Given the description of an element on the screen output the (x, y) to click on. 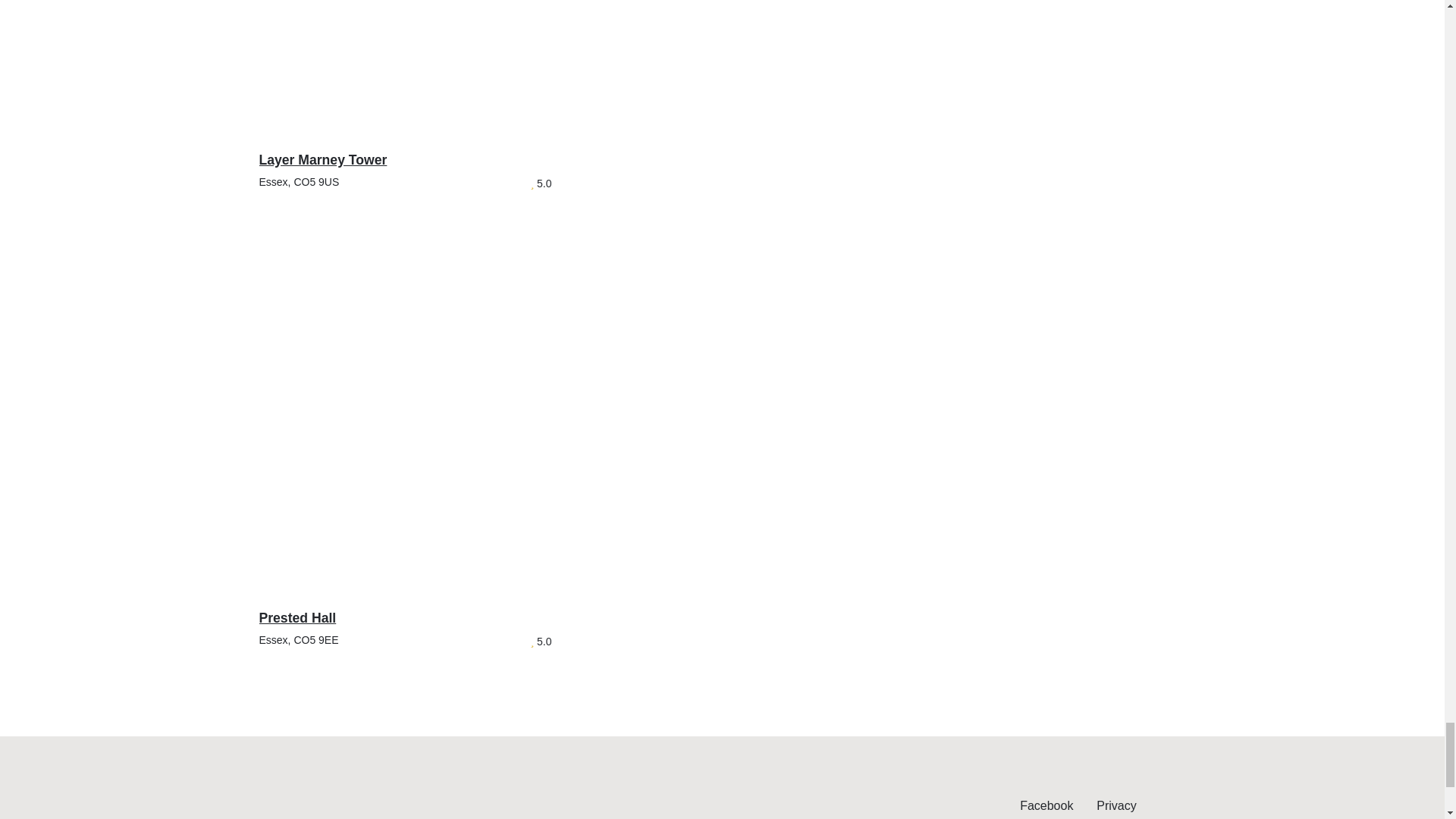
Layer Marney Tower (405, 107)
